Given the description of an element on the screen output the (x, y) to click on. 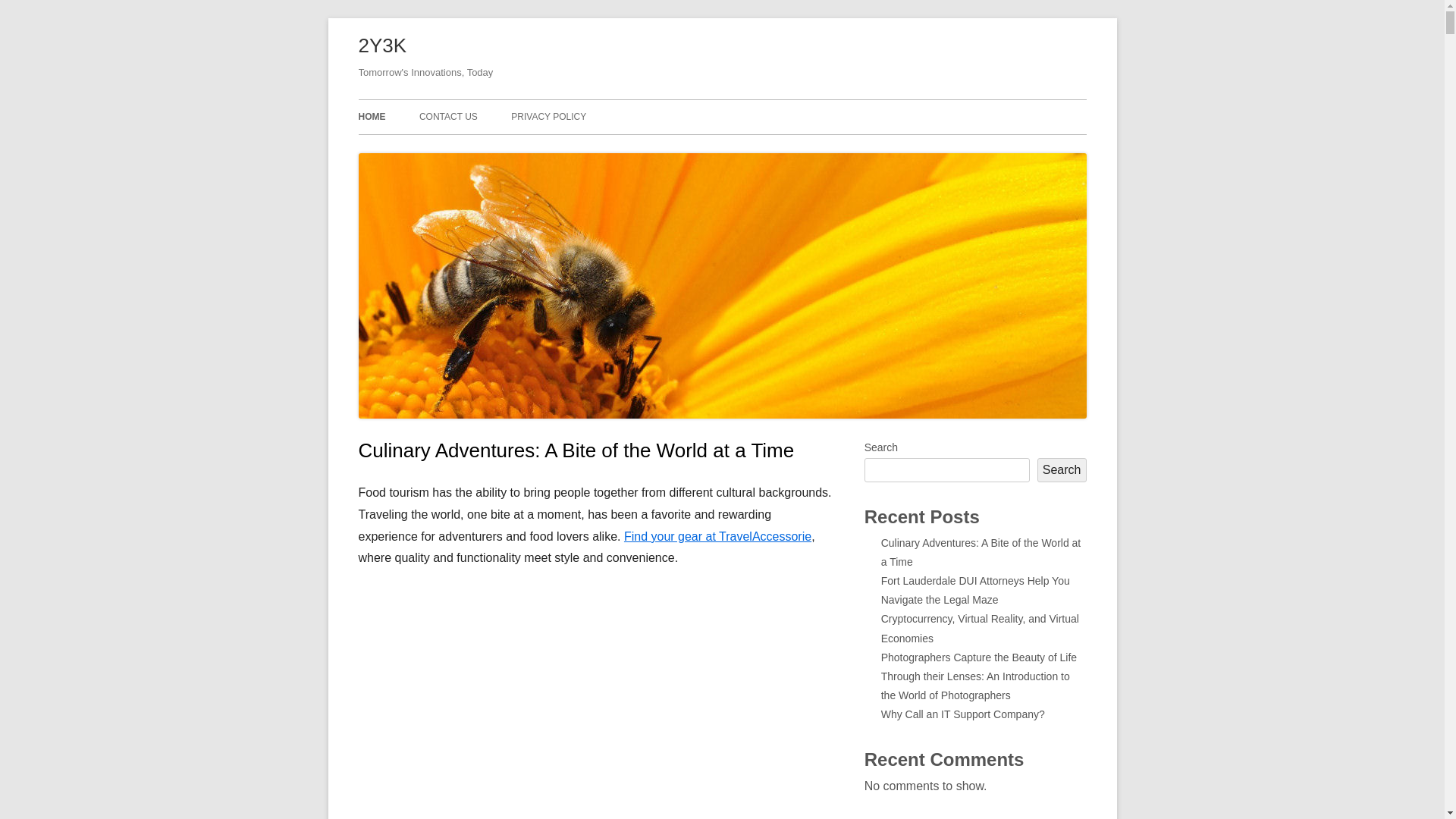
Cryptocurrency, Virtual Reality, and Virtual Economies Element type: text (980, 627)
CONTACT US Element type: text (448, 116)
Find your gear at TravelAccessorie Element type: text (717, 536)
Culinary Adventures: A Bite of the World at a Time Element type: text (575, 450)
Why Call an IT Support Company? Element type: text (962, 714)
Culinary Adventures: A Bite of the World at a Time Element type: text (981, 551)
2Y3K Element type: text (381, 45)
HOME Element type: text (371, 116)
Search Element type: text (1061, 470)
PRIVACY POLICY Element type: text (548, 116)
